Given the description of an element on the screen output the (x, y) to click on. 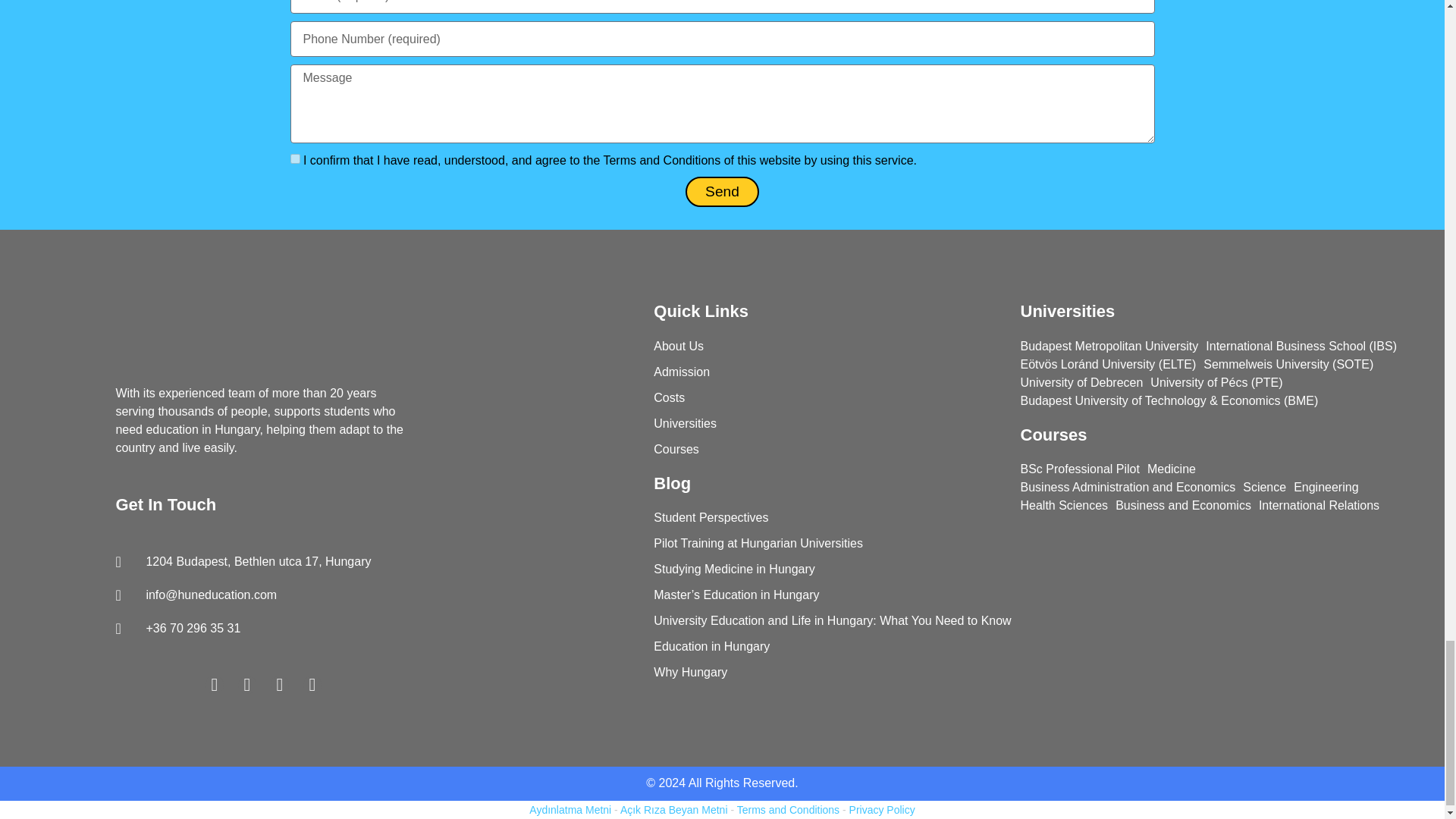
1204 Budapest, Bethlen utca 17, Hungary (262, 561)
Get In Touch (165, 504)
on (294, 158)
Send (721, 191)
